Given the description of an element on the screen output the (x, y) to click on. 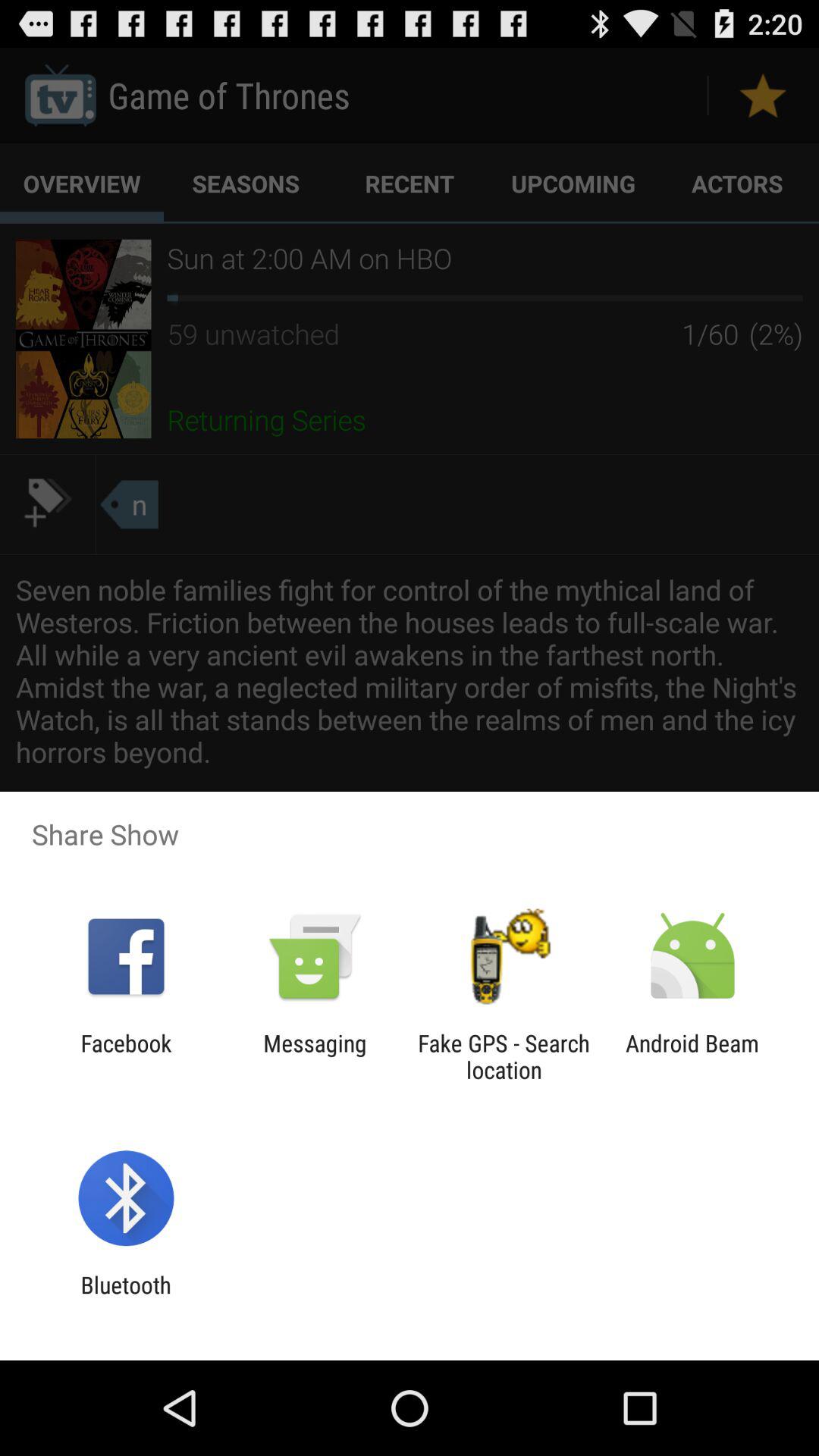
choose android beam item (692, 1056)
